Given the description of an element on the screen output the (x, y) to click on. 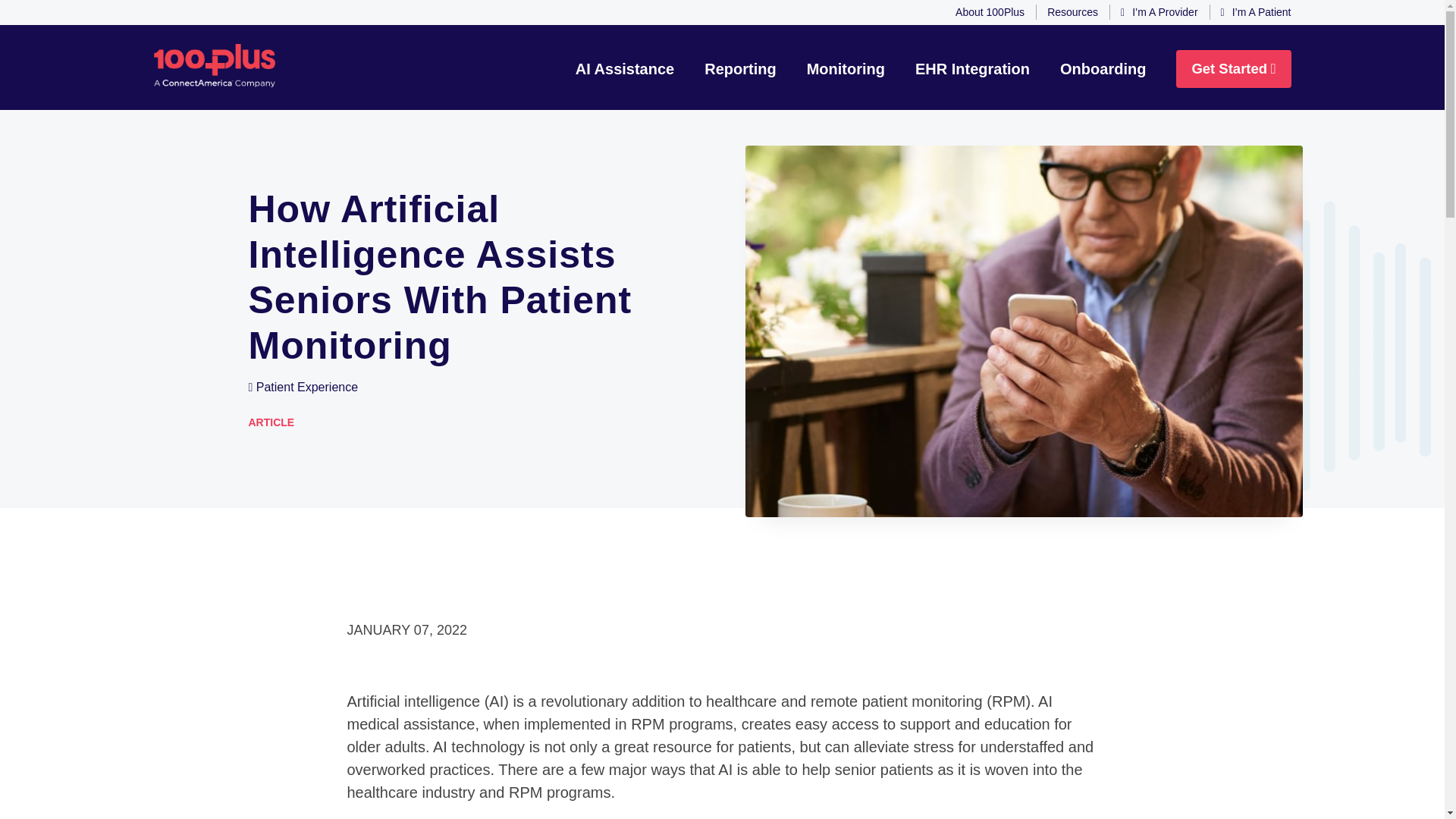
AI Assistance (624, 68)
Monitoring (845, 68)
Back to home (213, 60)
Get Started (1233, 68)
About 100Plus (990, 11)
Reporting (740, 68)
EHR Integration (972, 68)
Onboarding (1102, 68)
Resources (1071, 11)
